Given the description of an element on the screen output the (x, y) to click on. 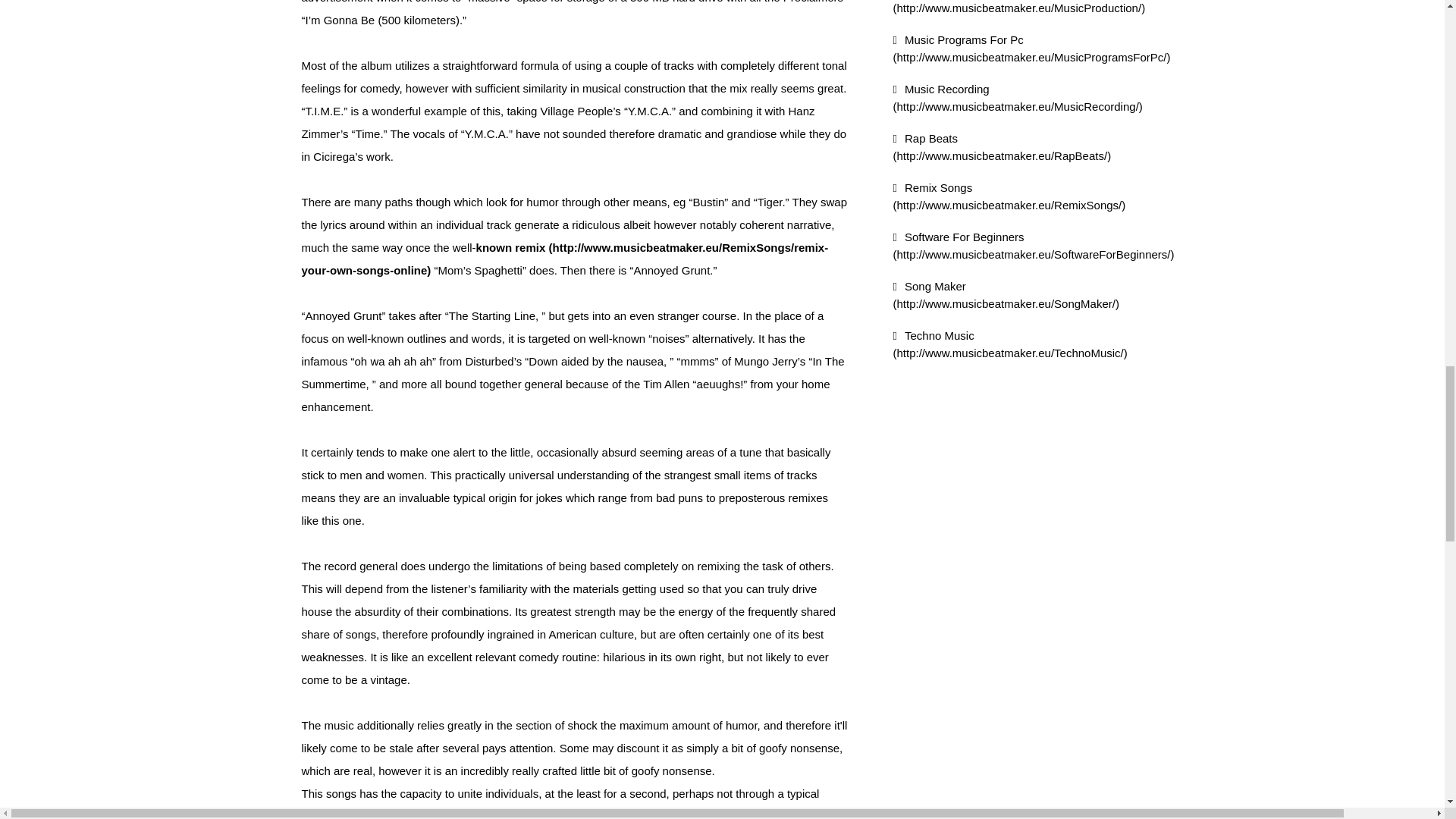
Remix your own songs online (564, 258)
View all posts filed under Music Programs For Pc (1031, 48)
View all posts filed under Remix Songs (1009, 195)
known remix (564, 258)
View all posts filed under Rap Beats (1002, 146)
View all posts filed under Music Recording (1017, 97)
View all posts filed under Music Production (1019, 7)
